Given the description of an element on the screen output the (x, y) to click on. 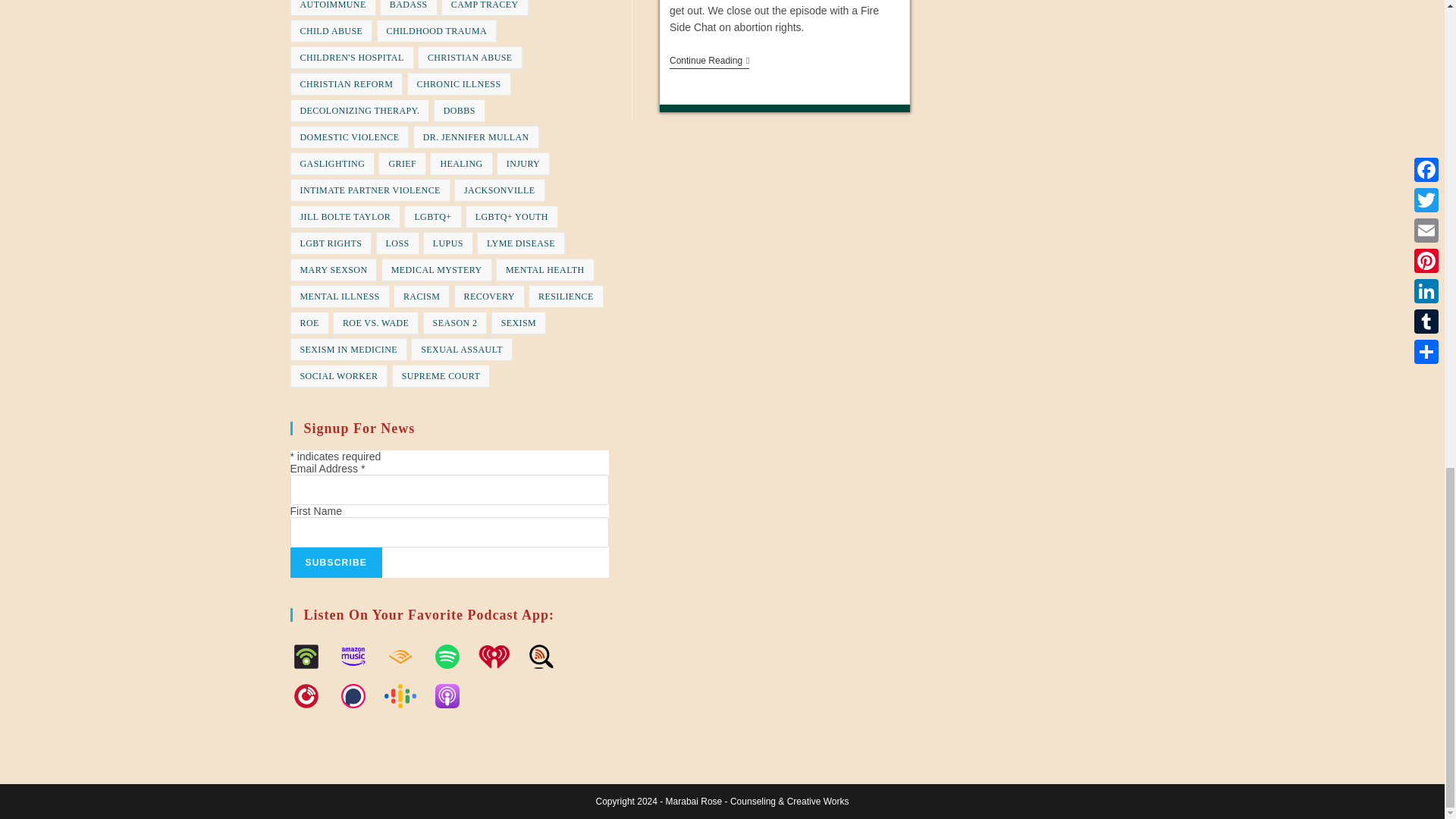
Spotify (453, 656)
Player.fm (312, 695)
iHeartRadio (500, 656)
Listen-Notes (548, 656)
Apple-Podcasts (453, 695)
Podbean (312, 656)
Subscribe (335, 562)
Google-Podcasts (407, 695)
Audible (407, 656)
Amazon-Music (360, 656)
Podchaser (360, 695)
